Given the description of an element on the screen output the (x, y) to click on. 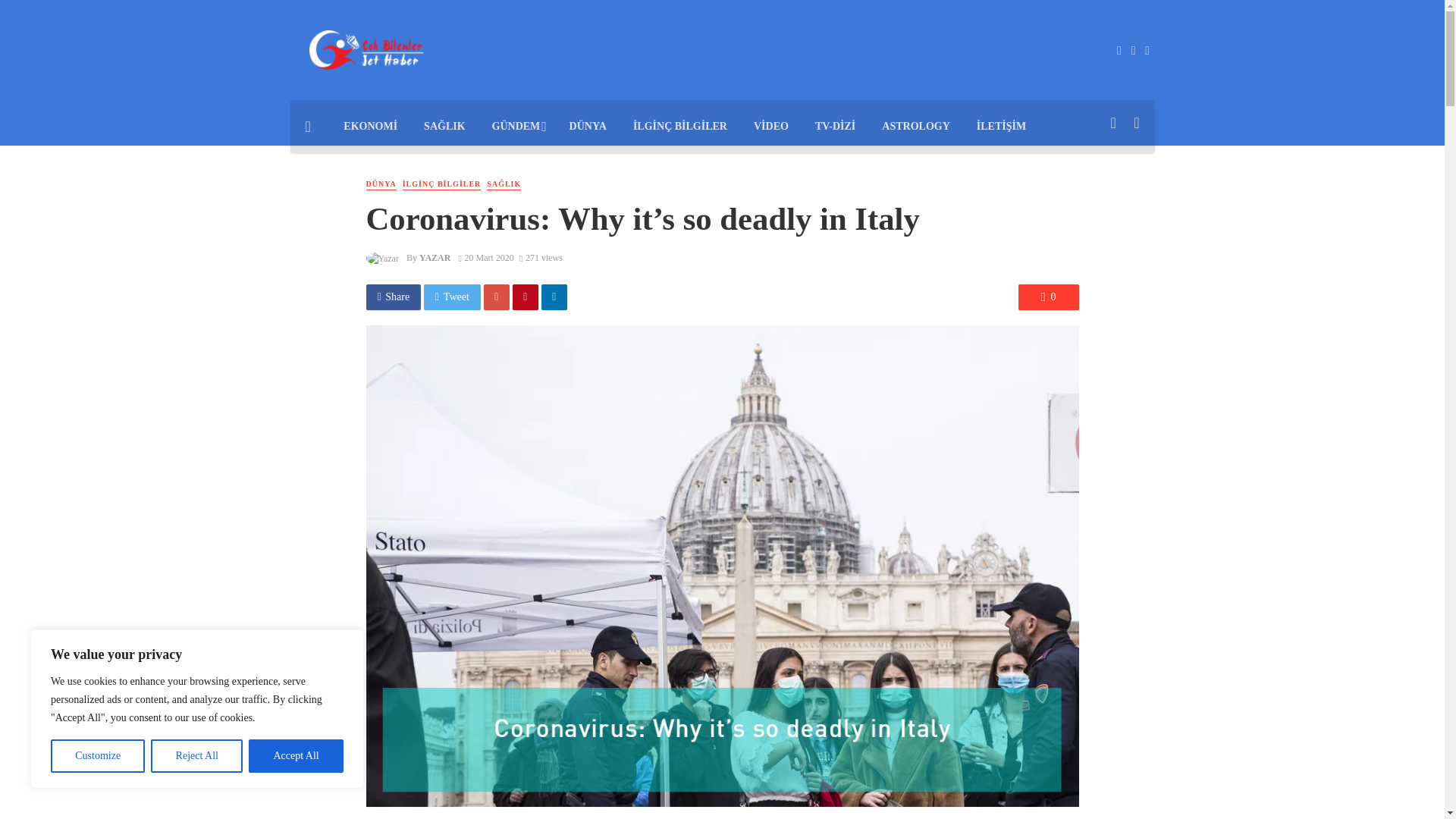
TV-DIZI (834, 126)
EKONOMI (370, 126)
ASTROLOGY (915, 126)
Posts by Yazar (435, 257)
Customize (97, 756)
Mart 20, 2020 at 3:37 pm (485, 257)
Accept All (295, 756)
VIDEO (770, 126)
Reject All (197, 756)
